Given the description of an element on the screen output the (x, y) to click on. 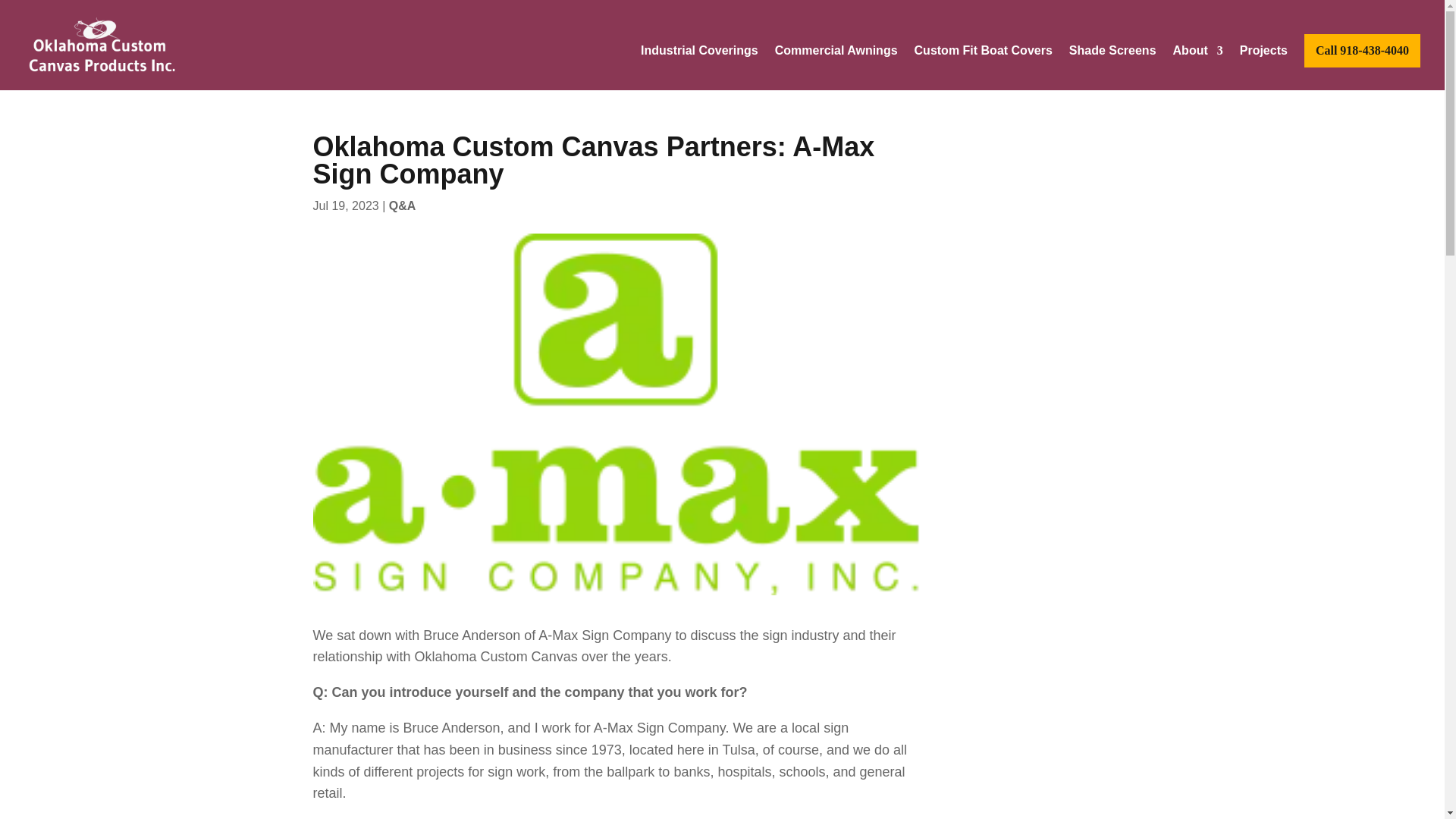
Call 918-438-4040 (1362, 50)
Custom Fit Boat Covers (983, 67)
Shade Screens (1112, 67)
About (1198, 67)
Industrial Coverings (699, 67)
Commercial Awnings (836, 67)
Projects (1263, 67)
